Given the description of an element on the screen output the (x, y) to click on. 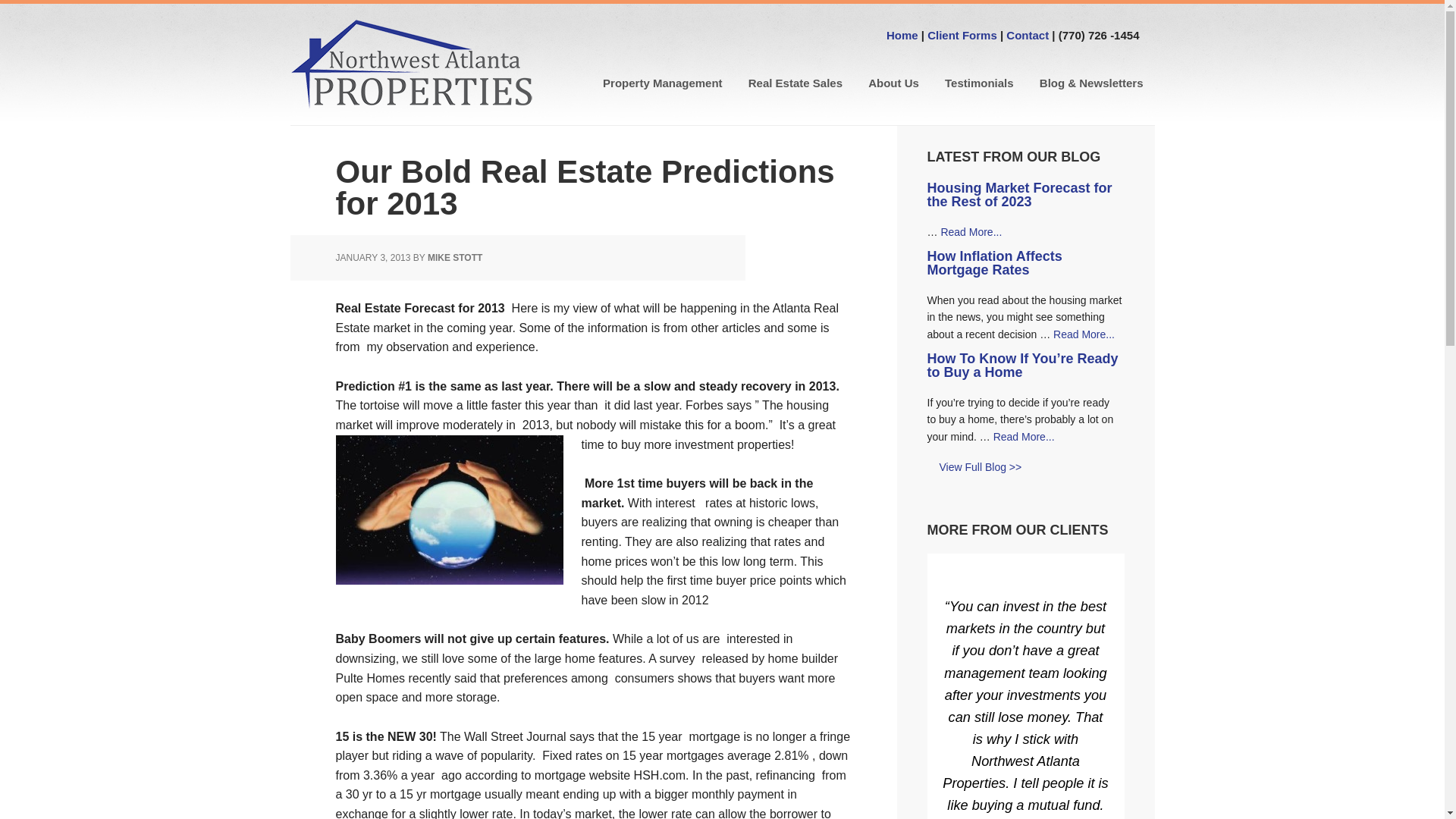
Housing Market Forecast for the Rest of 2023 (1019, 194)
Northwest Atlanta Properties (410, 63)
Read More... (1083, 334)
How Inflation Affects Mortgage Rates (993, 262)
Client Forms (962, 34)
Testimonials (979, 83)
About Us (893, 83)
MIKE STOTT (454, 257)
Real Estate Sales (794, 83)
Read More... (970, 232)
